Given the description of an element on the screen output the (x, y) to click on. 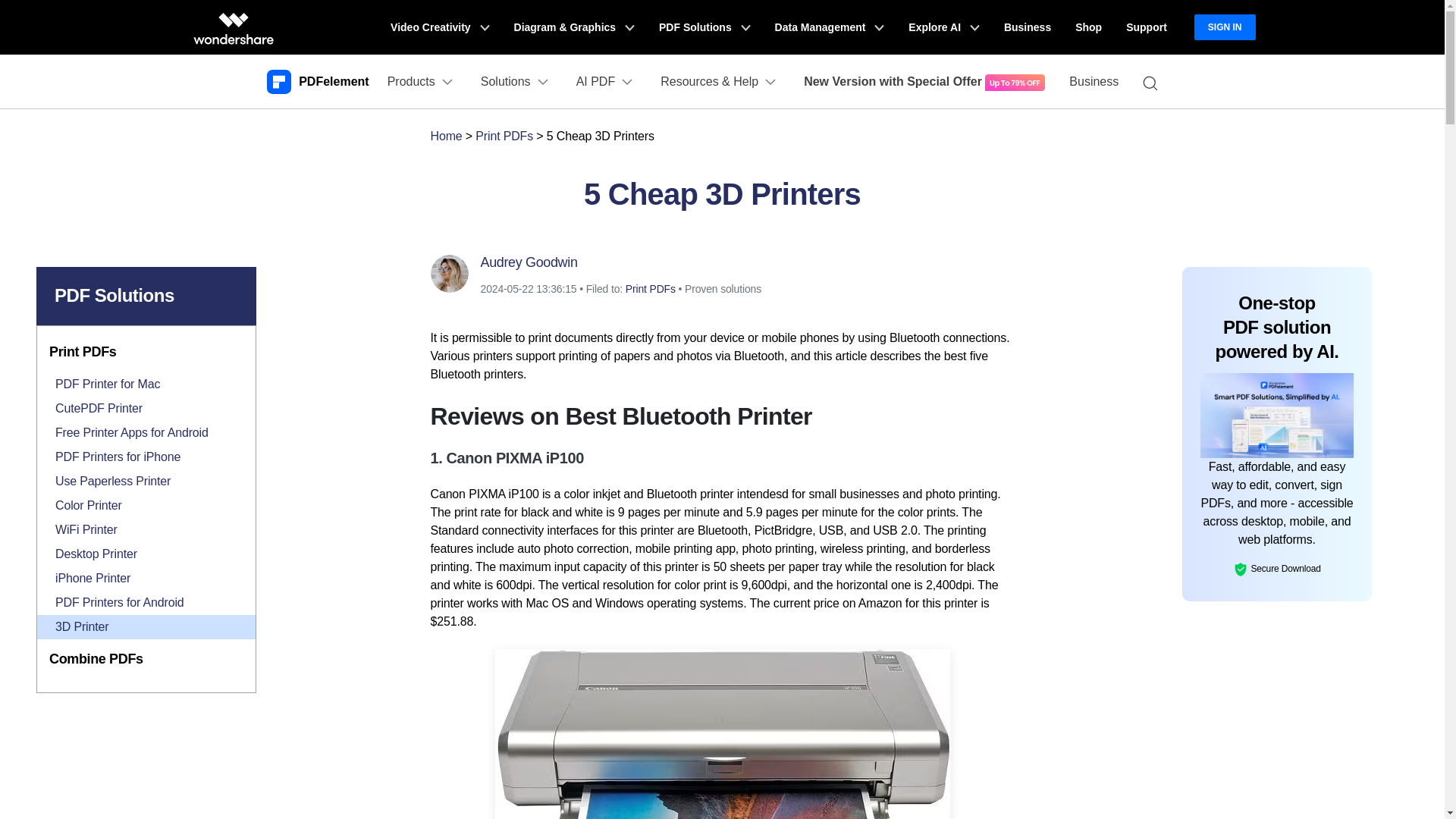
Data Management (829, 27)
Video Creativity (439, 27)
PDF Solutions (704, 27)
Explore AI (943, 27)
